Given the description of an element on the screen output the (x, y) to click on. 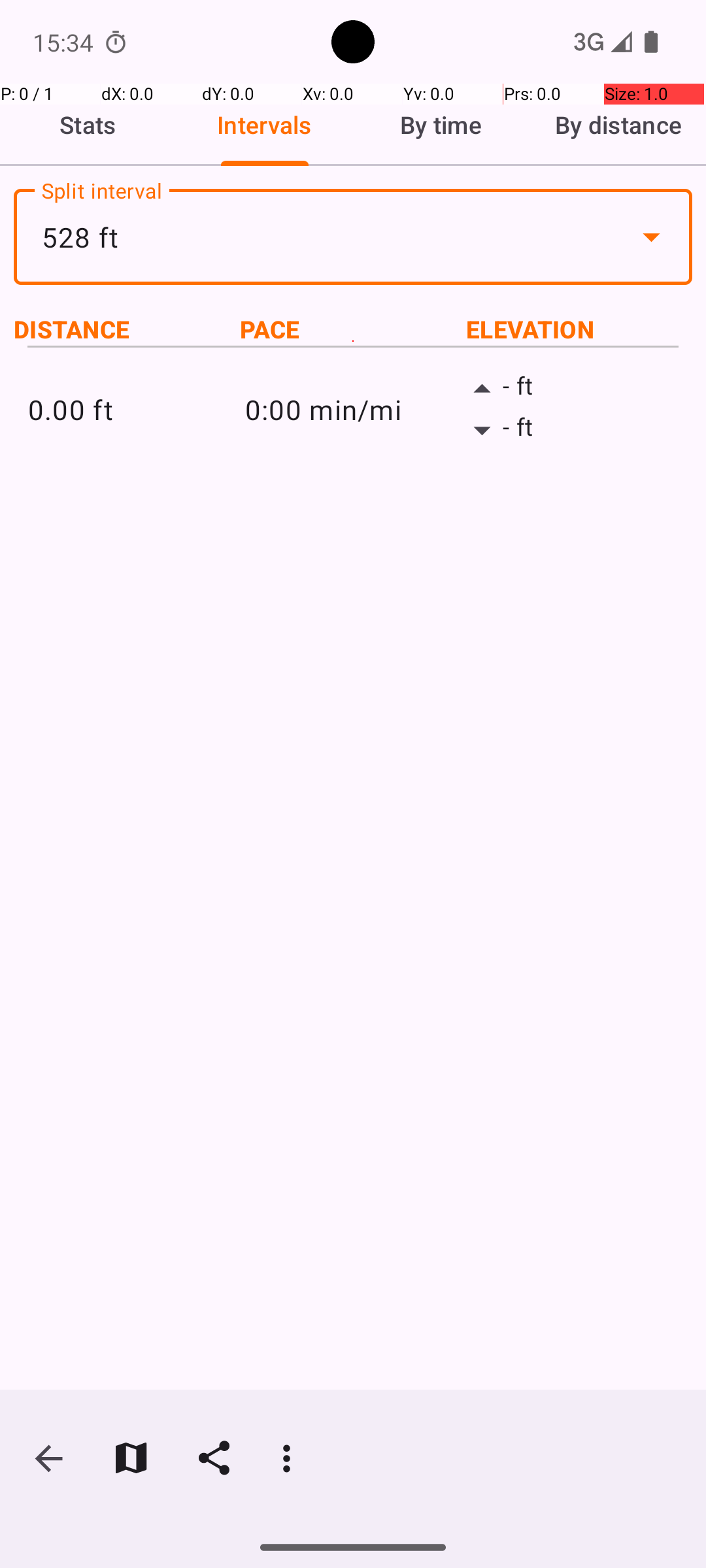
528 ft Element type: android.widget.Spinner (352, 236)
PACE Element type: android.widget.TextView (352, 328)
0:00 min/mi Element type: android.widget.TextView (352, 408)
